Given the description of an element on the screen output the (x, y) to click on. 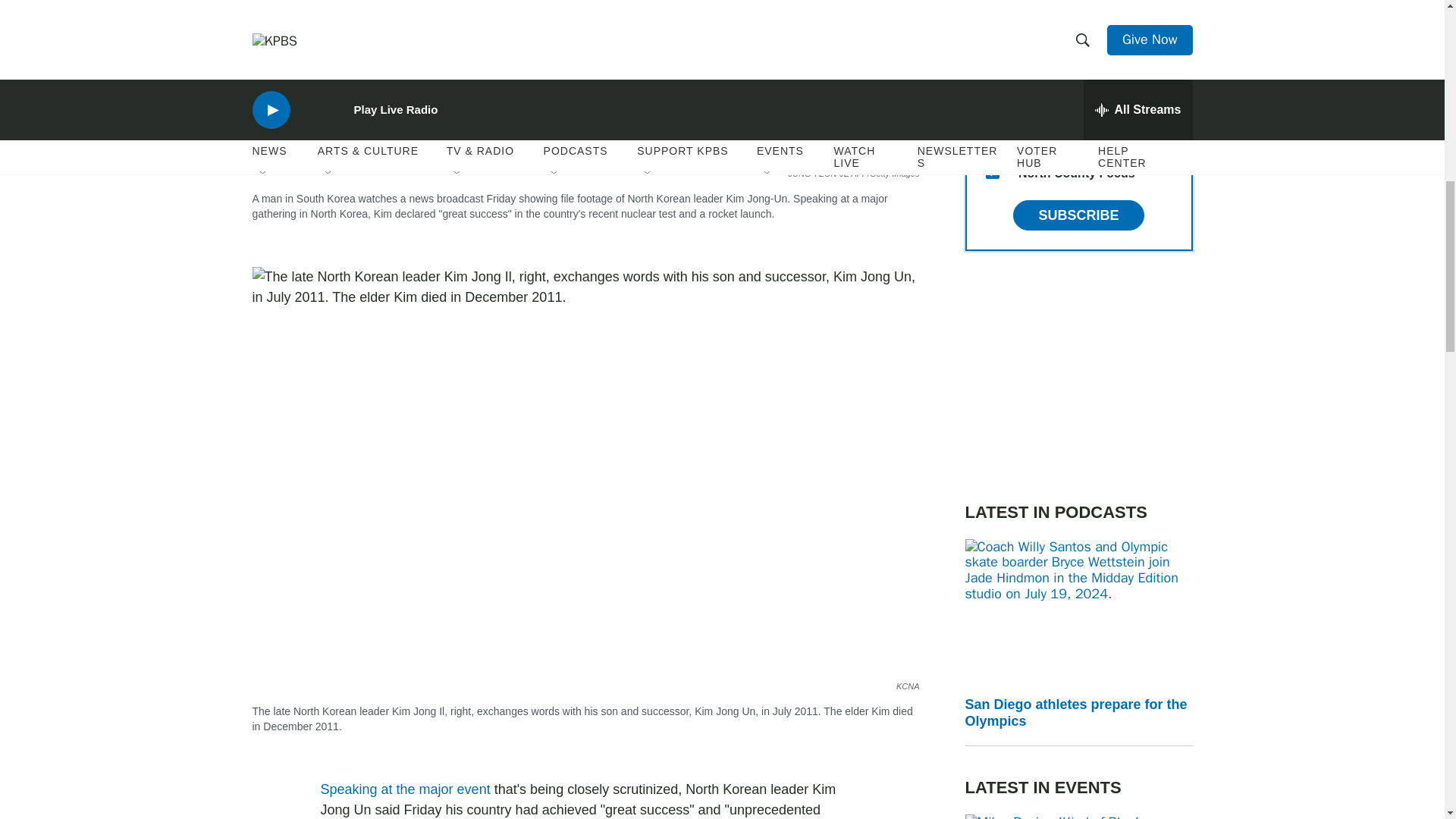
6 (991, 26)
1 (991, 99)
2 (991, 62)
8 (991, 135)
15 (991, 172)
